Given the description of an element on the screen output the (x, y) to click on. 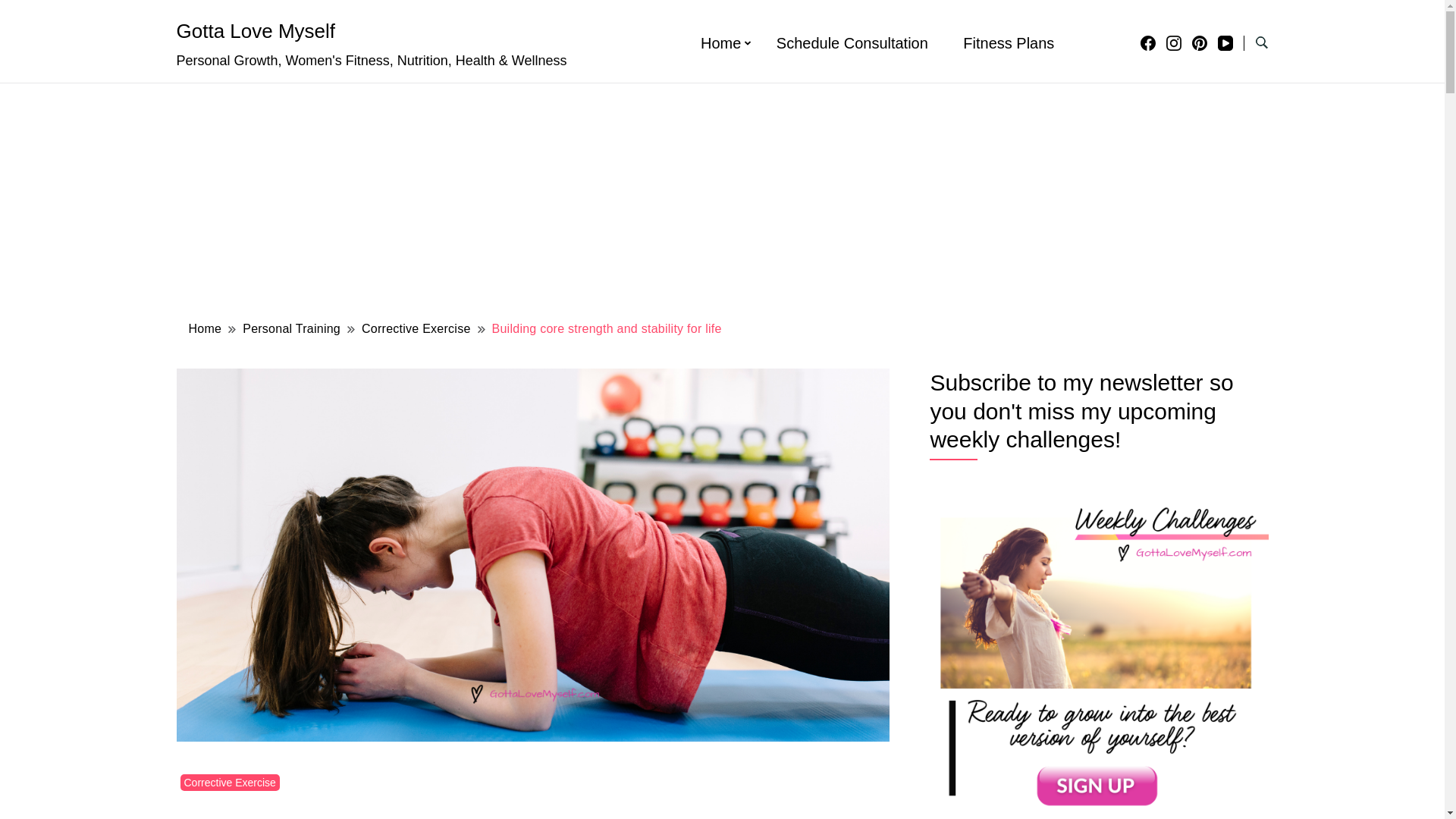
Home (204, 328)
Building core strength and stability for life (607, 328)
Schedule Consultation (851, 43)
Home (720, 43)
Corrective Exercise (229, 782)
Gotta Love Myself (255, 30)
Corrective Exercise (416, 328)
Fitness Plans (1008, 43)
Personal Training (290, 328)
